Given the description of an element on the screen output the (x, y) to click on. 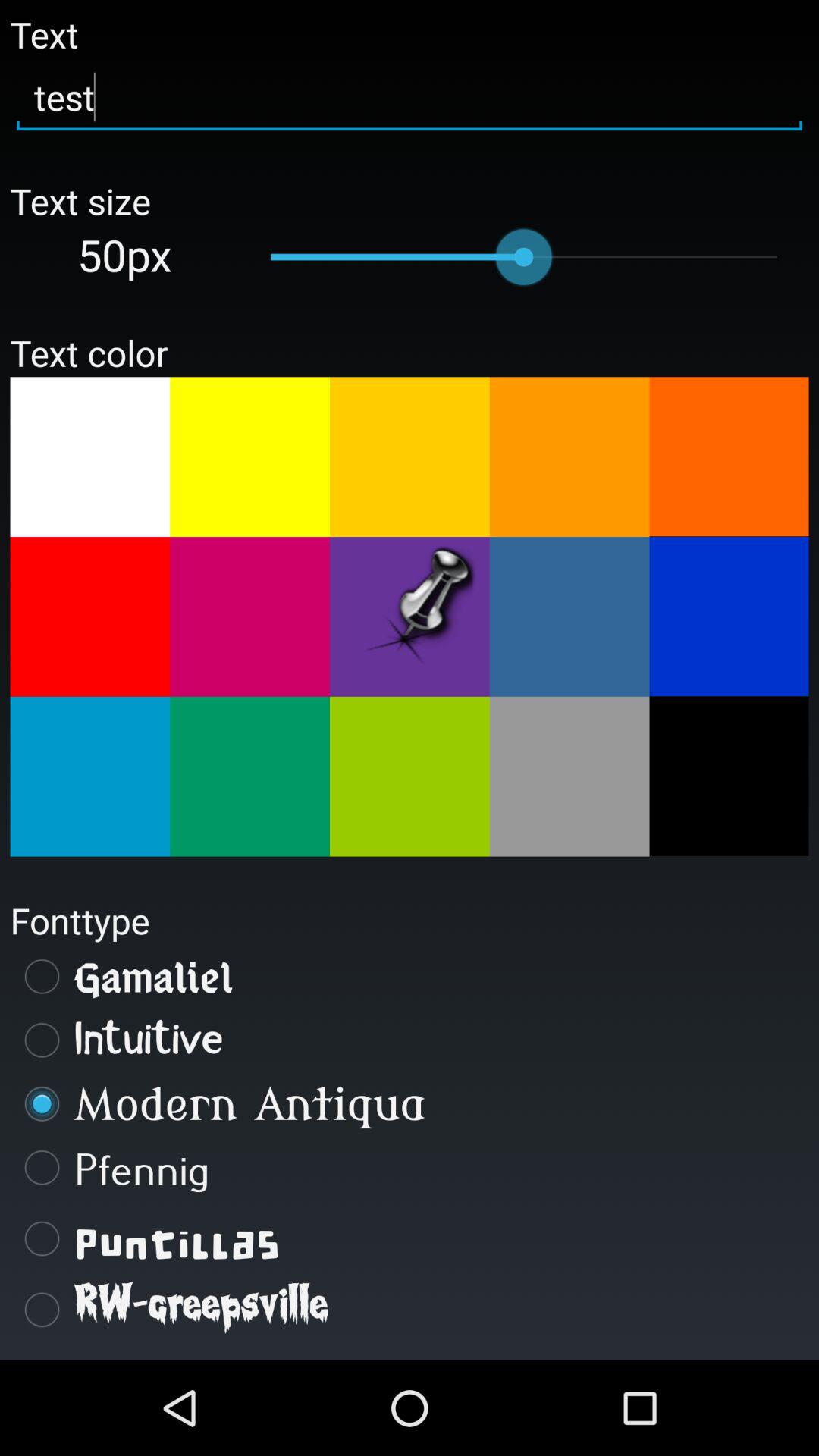
select red text color (90, 616)
